Given the description of an element on the screen output the (x, y) to click on. 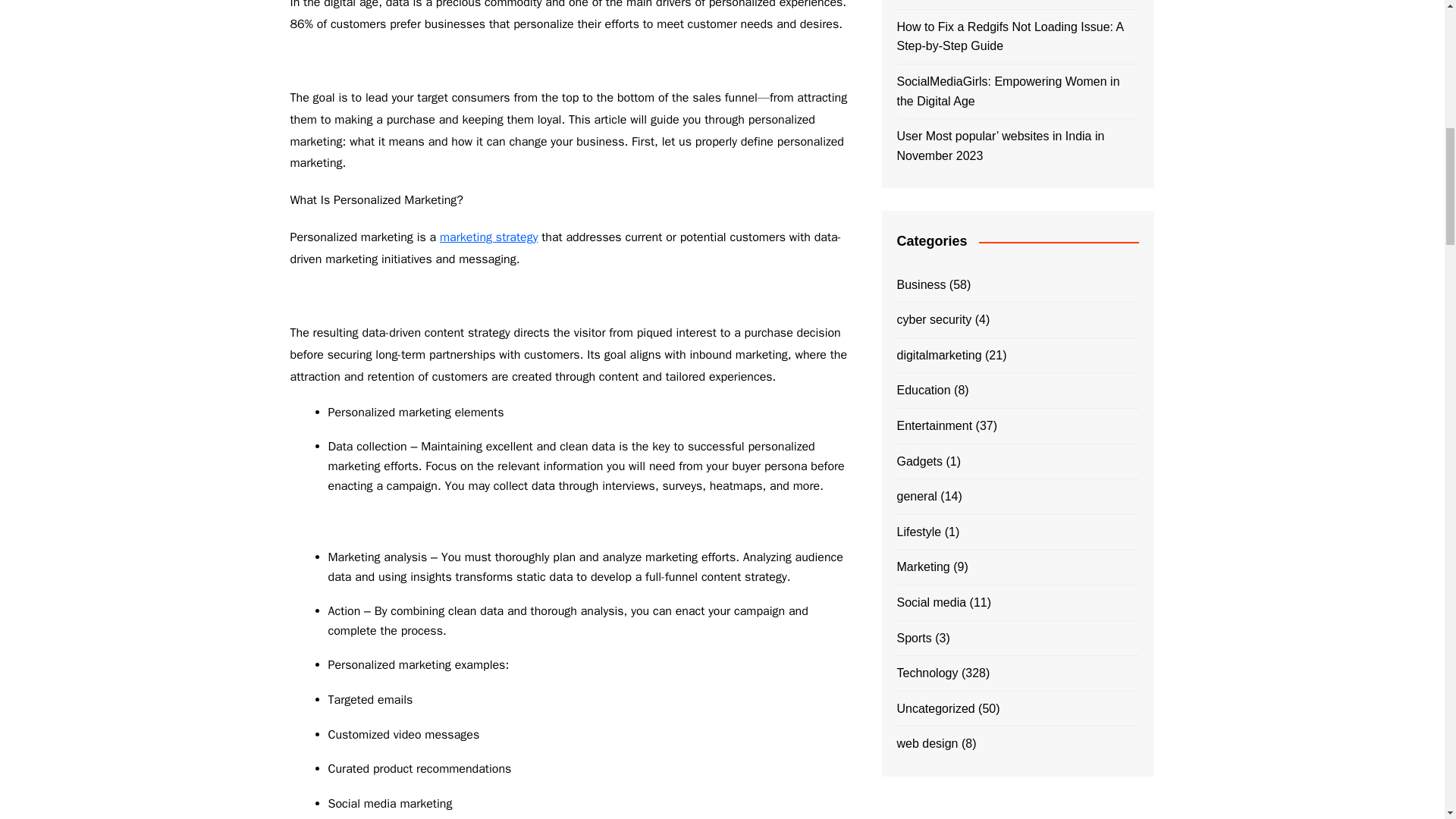
marketing strategy (488, 237)
